Given the description of an element on the screen output the (x, y) to click on. 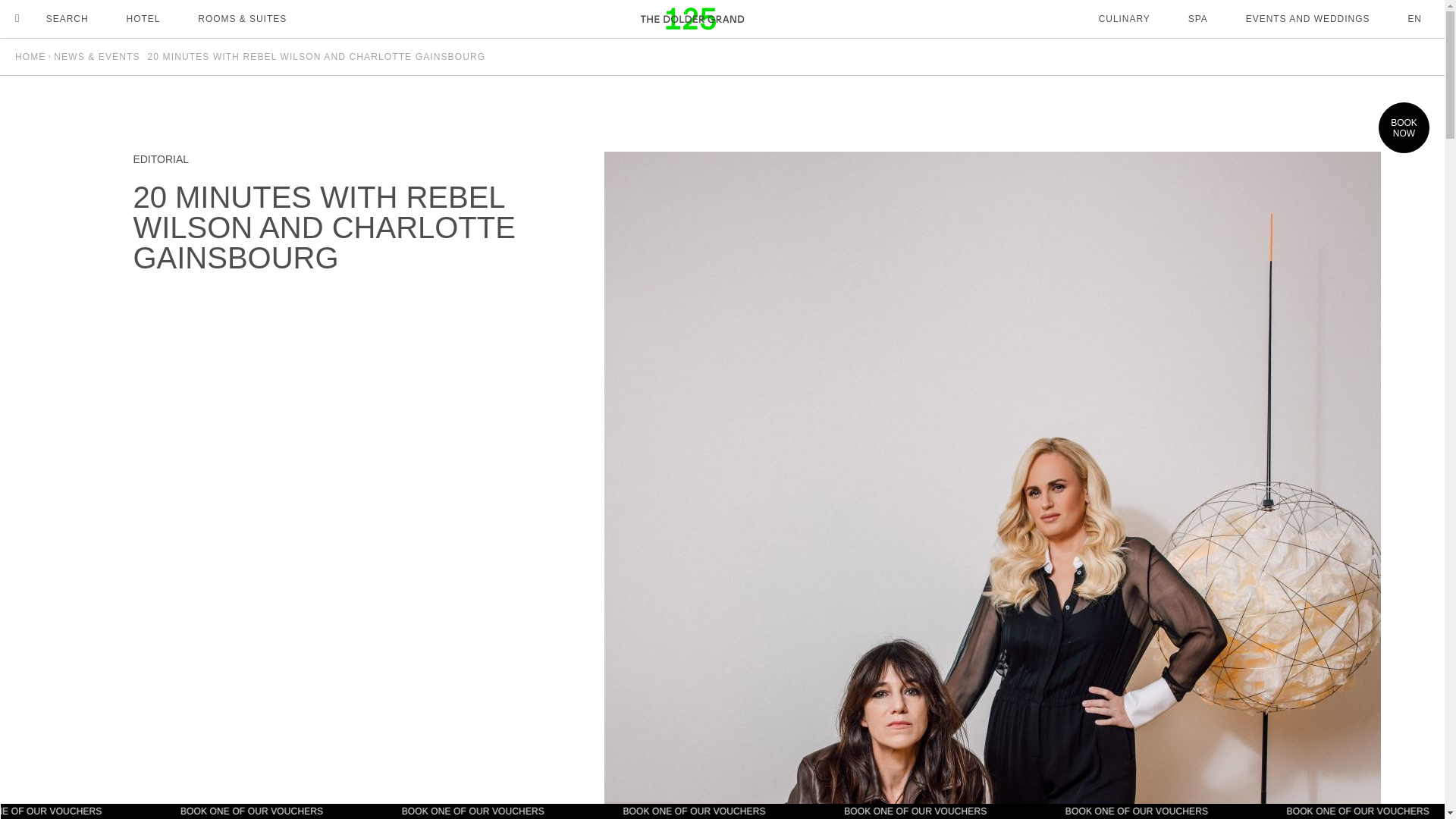
SPA (1198, 18)
CULINARY (1134, 18)
SEARCH (51, 18)
HOTEL (152, 18)
EVENTS AND WEDDINGS (1298, 18)
